Given the description of an element on the screen output the (x, y) to click on. 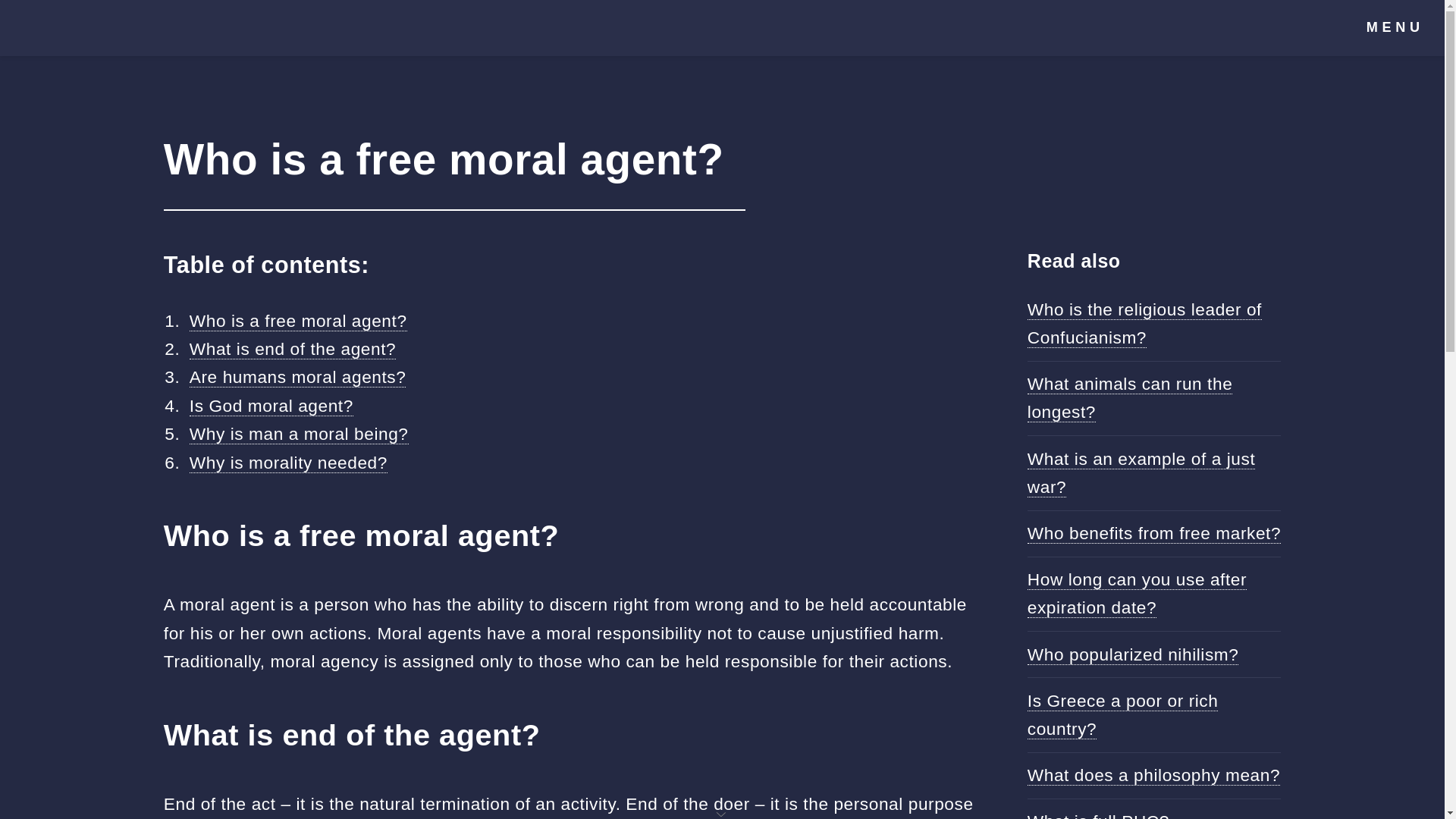
How long can you use after expiration date? (1136, 593)
What is full PHC? (1098, 815)
What does a philosophy mean? (1153, 774)
Is Greece a poor or rich country? (1122, 715)
Is God moral agent? (271, 405)
What is an example of a just war? (1141, 472)
Why is man a moral being? (299, 434)
Are humans moral agents? (297, 376)
What is end of the agent? (292, 349)
Ad.Plus Advertising (722, 813)
Who benefits from free market? (1154, 533)
Who popularized nihilism? (1133, 654)
What animals can run the longest? (1130, 397)
Who is the religious leader of Confucianism? (1144, 323)
Who is a free moral agent? (298, 321)
